Given the description of an element on the screen output the (x, y) to click on. 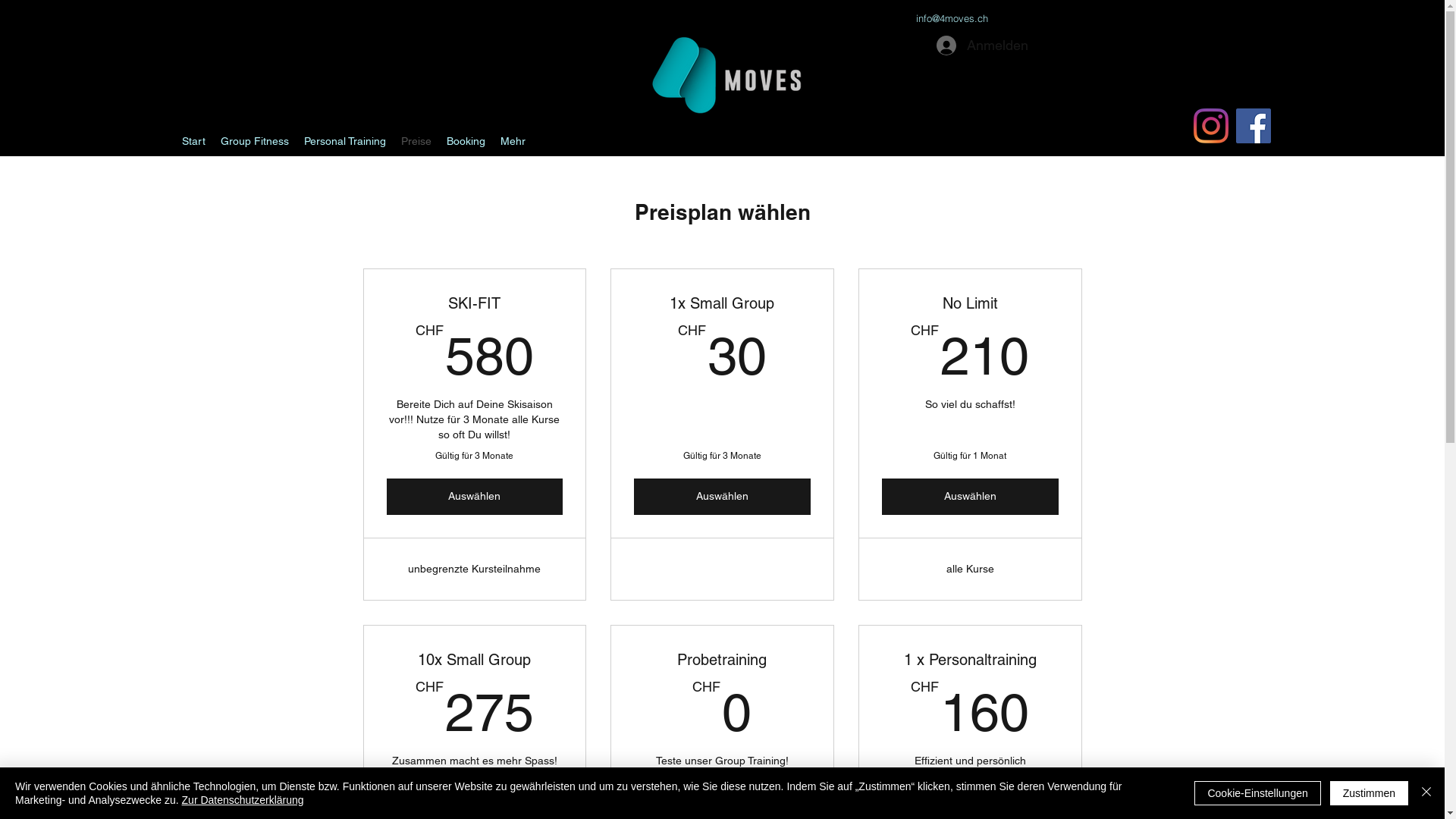
Start Element type: text (193, 140)
Booking Element type: text (465, 140)
info@4moves.ch Element type: text (952, 18)
Preise Element type: text (416, 140)
Anmelden Element type: text (981, 45)
Group Fitness Element type: text (254, 140)
Personal Training Element type: text (344, 140)
